Given the description of an element on the screen output the (x, y) to click on. 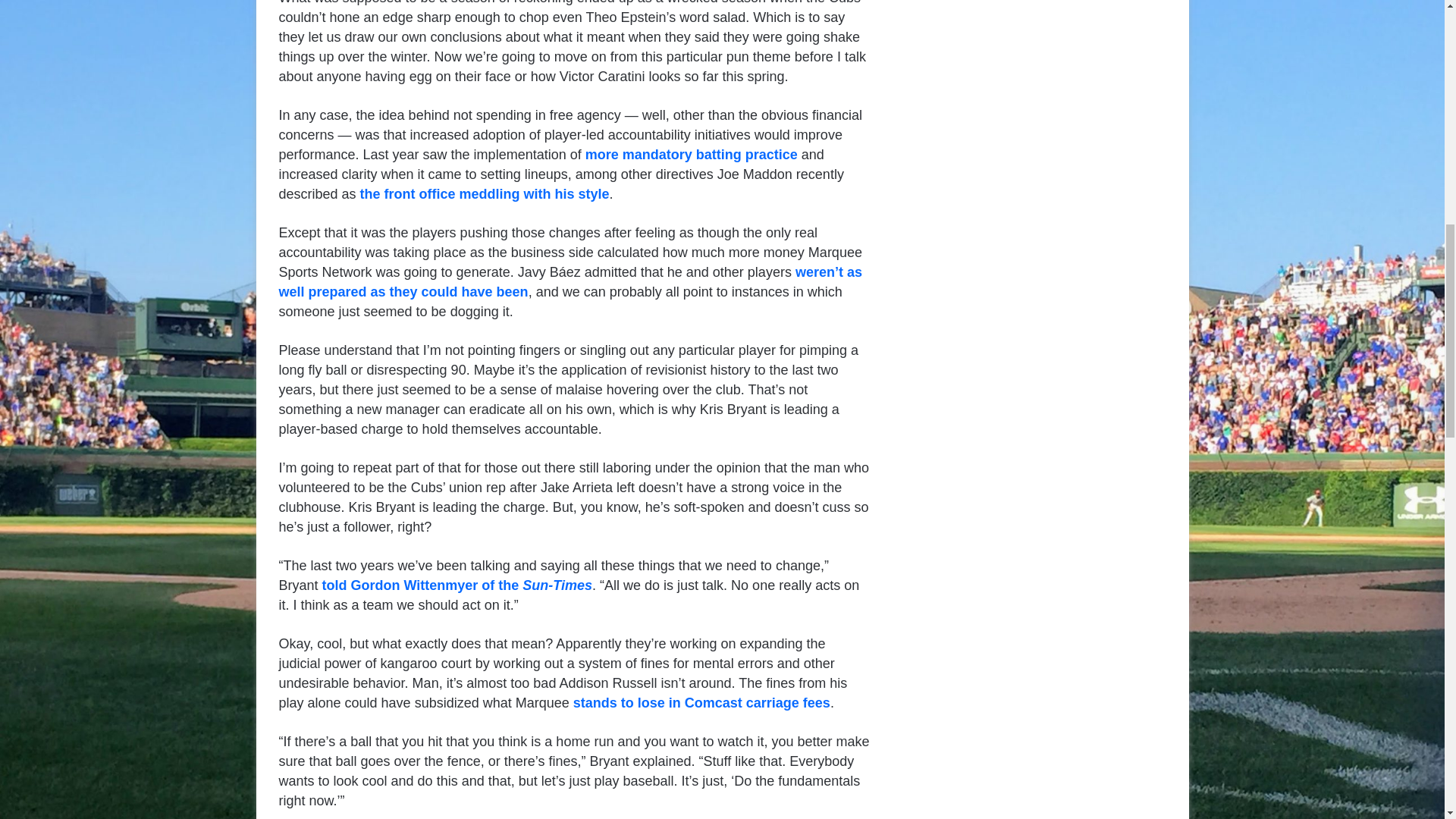
more mandatory batting practice (691, 154)
the front office meddling with his style (484, 193)
